Given the description of an element on the screen output the (x, y) to click on. 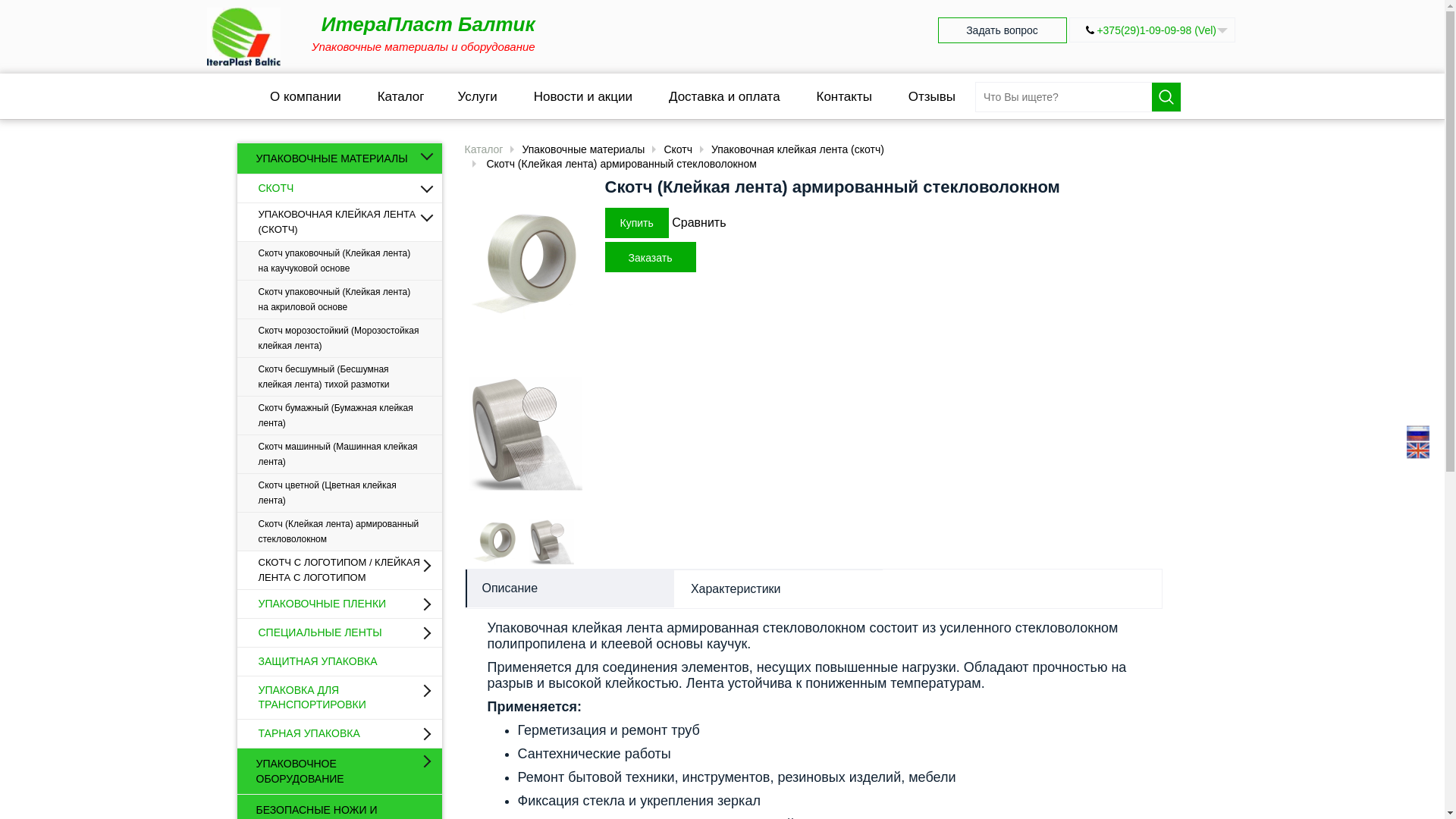
en Element type: hover (1417, 450)
ru Element type: hover (1417, 432)
+375(29)1-09-09-98 (Vel) Element type: text (1156, 30)
